Given the description of an element on the screen output the (x, y) to click on. 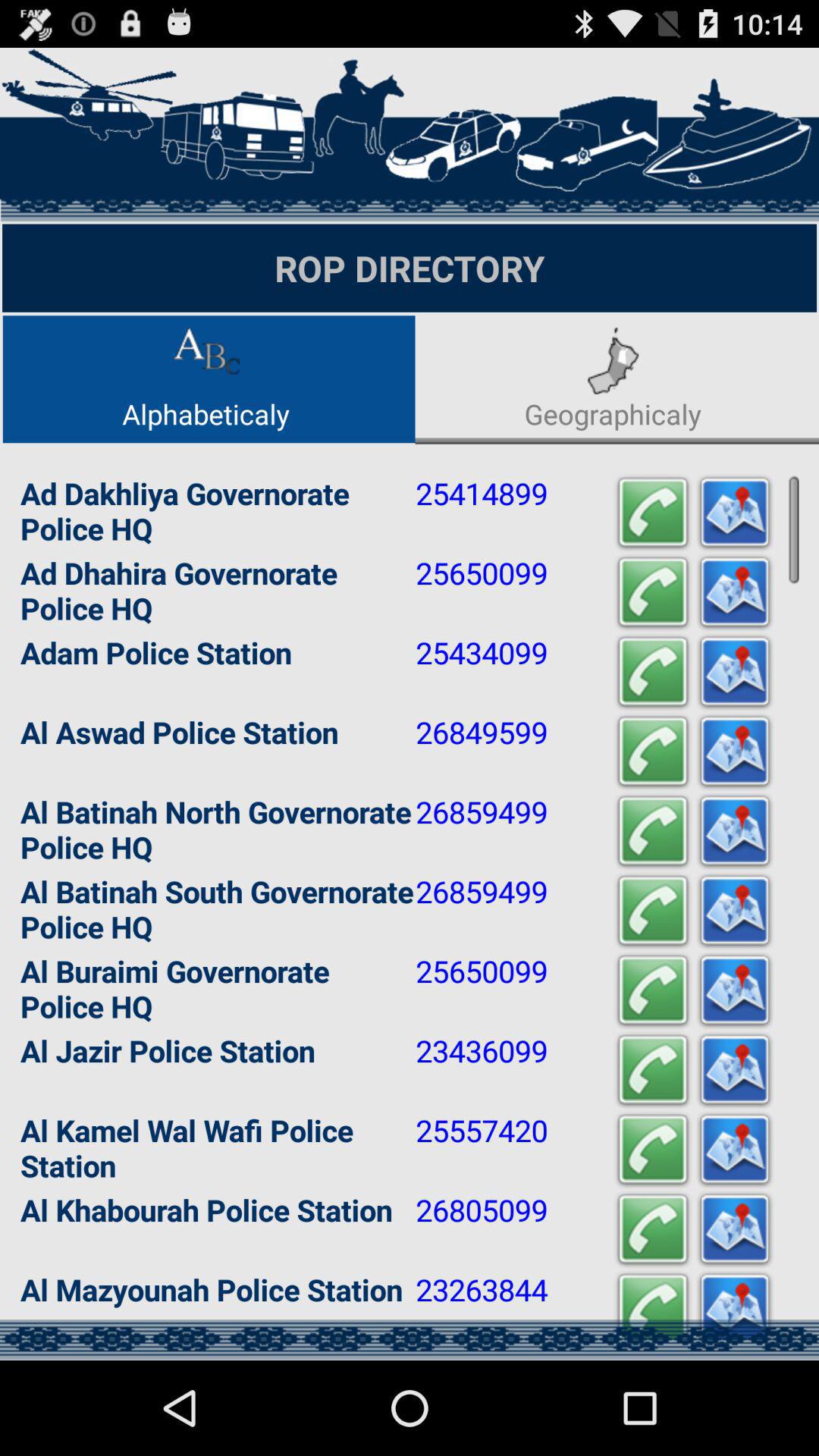
make call (652, 1070)
